Given the description of an element on the screen output the (x, y) to click on. 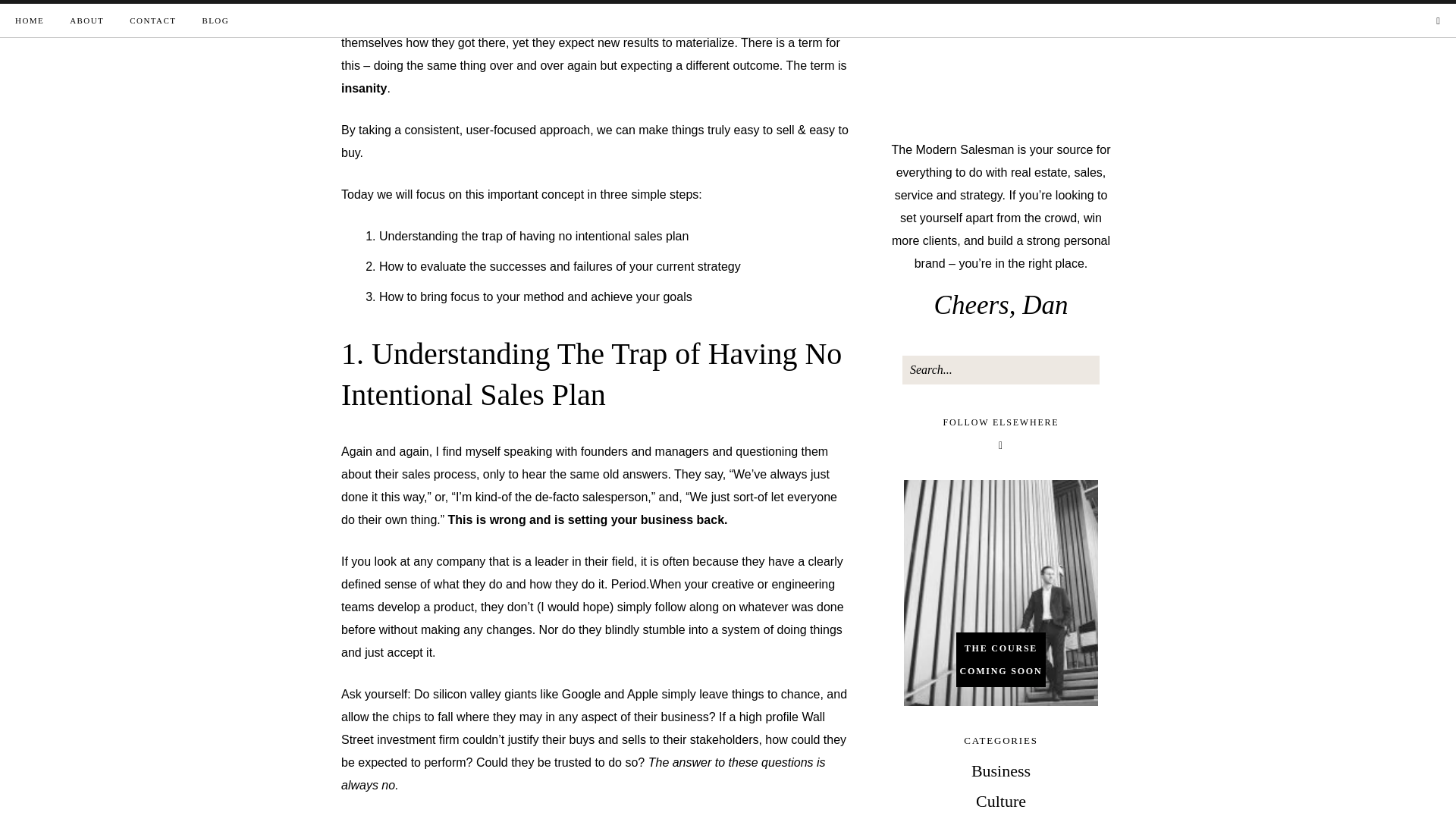
Culture (1000, 800)
Business (1000, 770)
